Given the description of an element on the screen output the (x, y) to click on. 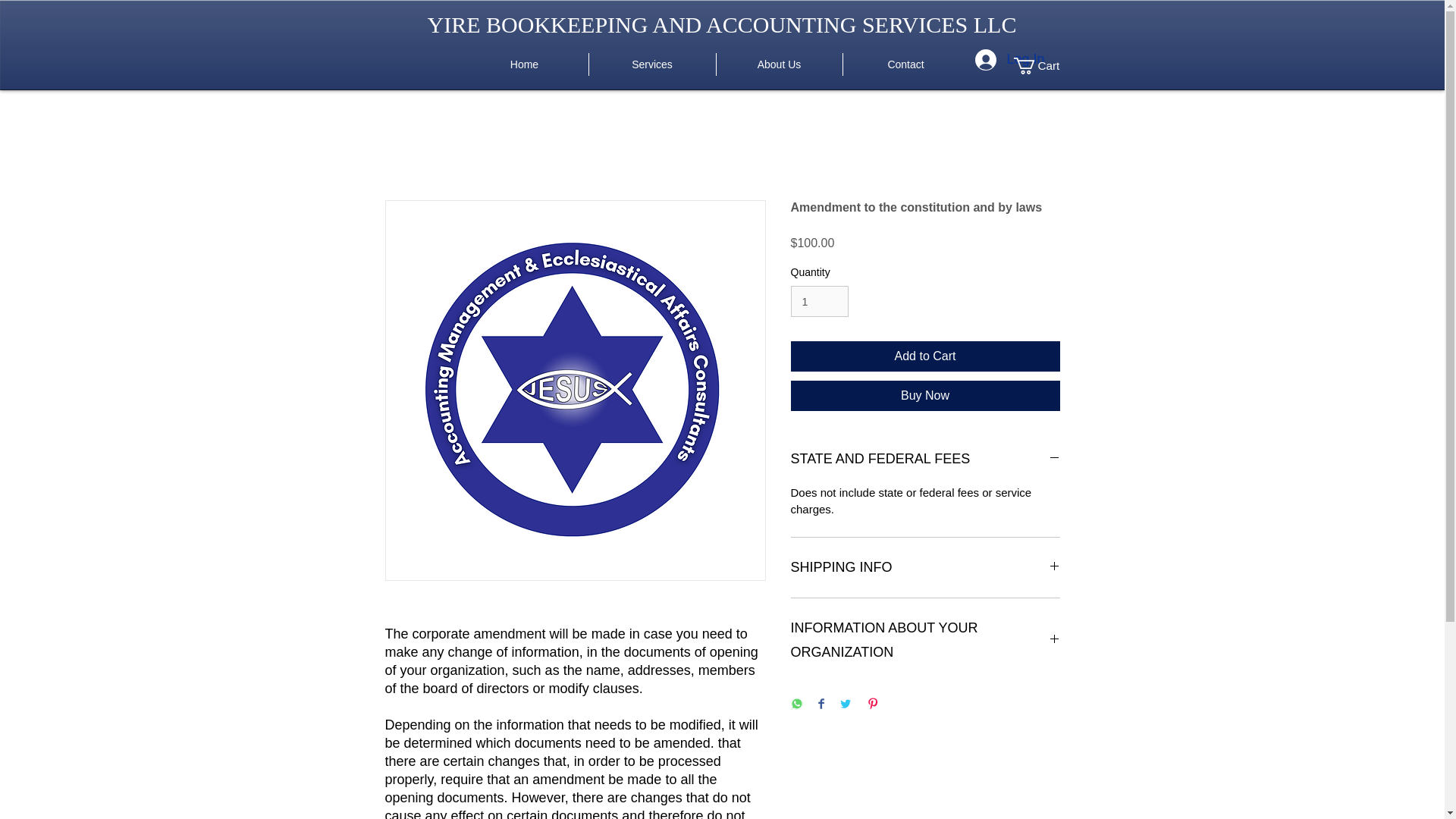
INFORMATION ABOUT YOUR ORGANIZATION (924, 640)
1 (818, 300)
SHIPPING INFO (924, 567)
Contact (906, 64)
Home (524, 64)
Cart (1044, 65)
STATE AND FEDERAL FEES (924, 459)
Buy Now (924, 395)
Add to Cart (924, 356)
Services (651, 64)
About Us (778, 64)
Log In (983, 59)
Cart (1044, 65)
